Given the description of an element on the screen output the (x, y) to click on. 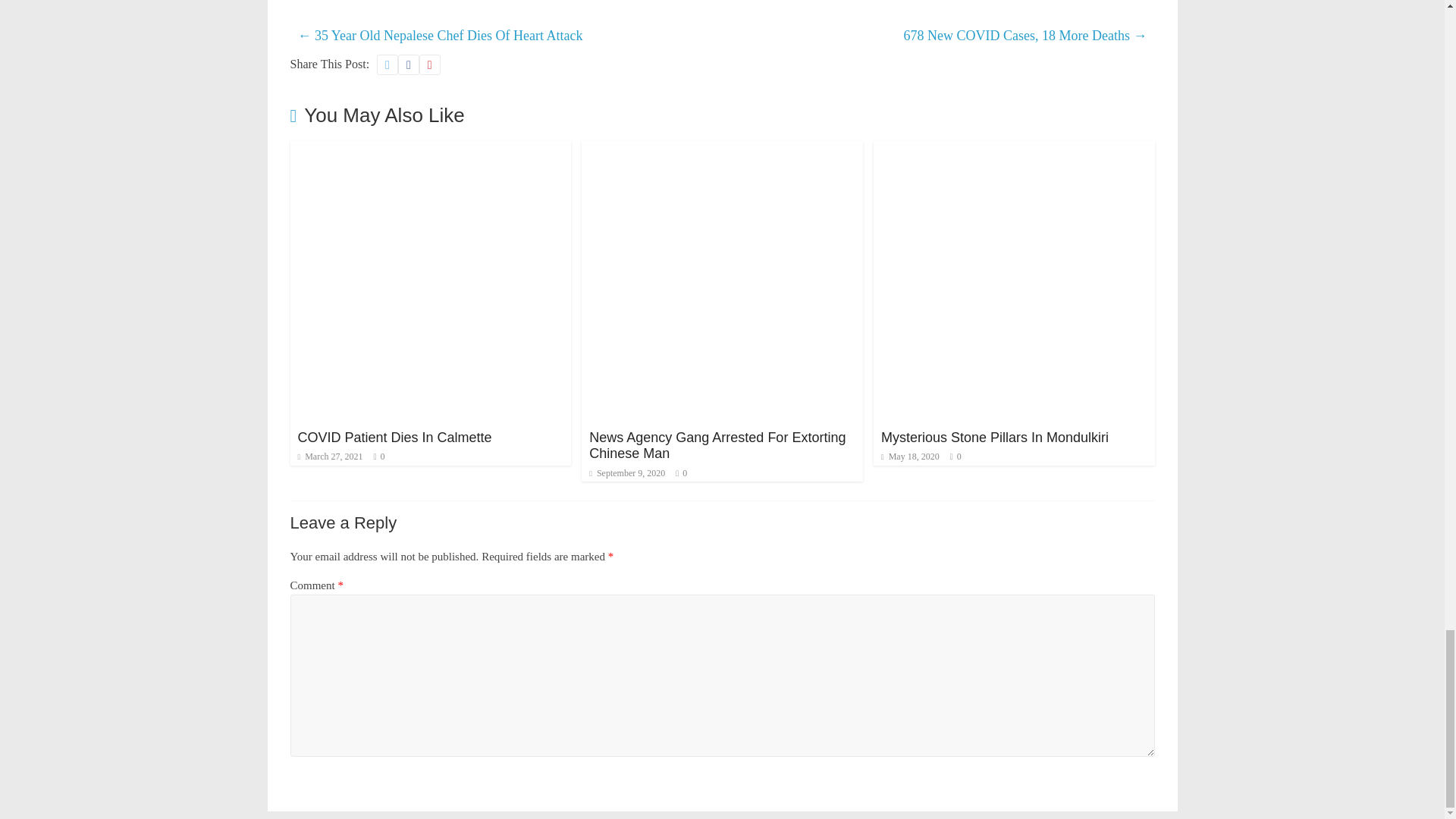
COVID Patient Dies In Calmette (394, 437)
News Agency Gang Arrested For Extorting Chinese Man (721, 150)
News Agency Gang Arrested For Extorting Chinese Man (717, 445)
COVID Patient Dies In Calmette (429, 150)
4:05 pm (329, 456)
2:45 pm (627, 472)
March 27, 2021 (329, 456)
COVID Patient Dies In Calmette (394, 437)
